Given the description of an element on the screen output the (x, y) to click on. 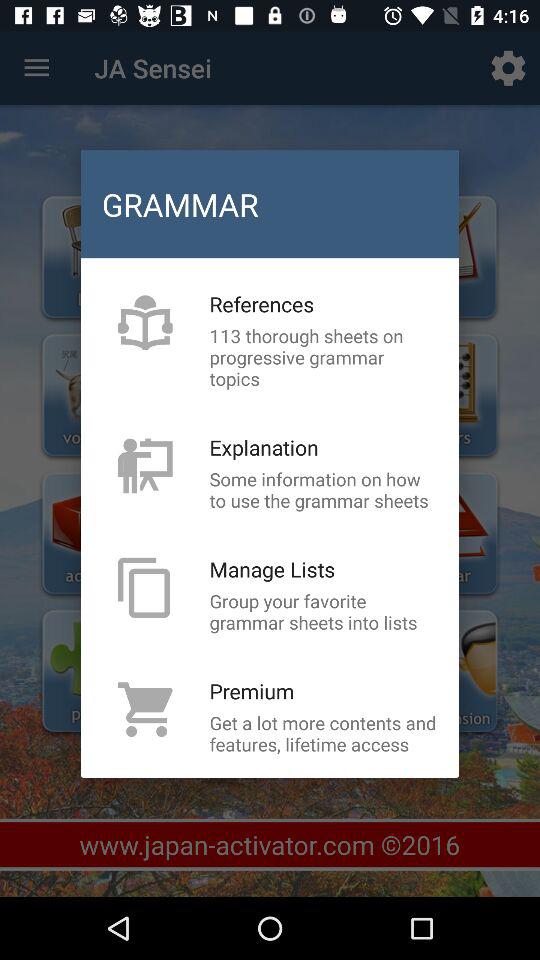
turn on icon above the 113 thorough sheets (261, 303)
